Given the description of an element on the screen output the (x, y) to click on. 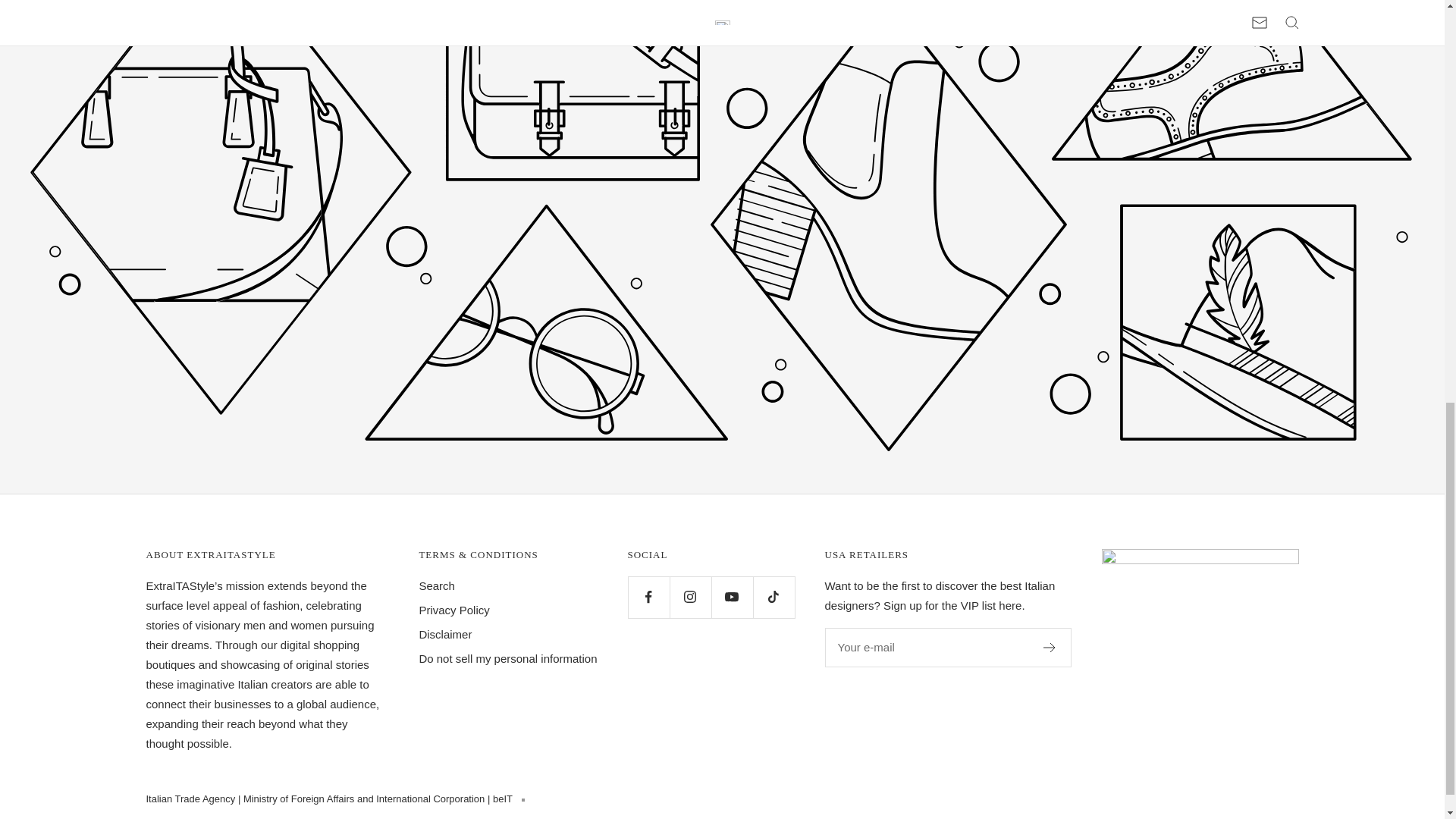
Register (1050, 647)
Privacy Policy (454, 609)
Disclaimer (445, 634)
Do not sell my personal information (507, 659)
Search (436, 586)
